Given the description of an element on the screen output the (x, y) to click on. 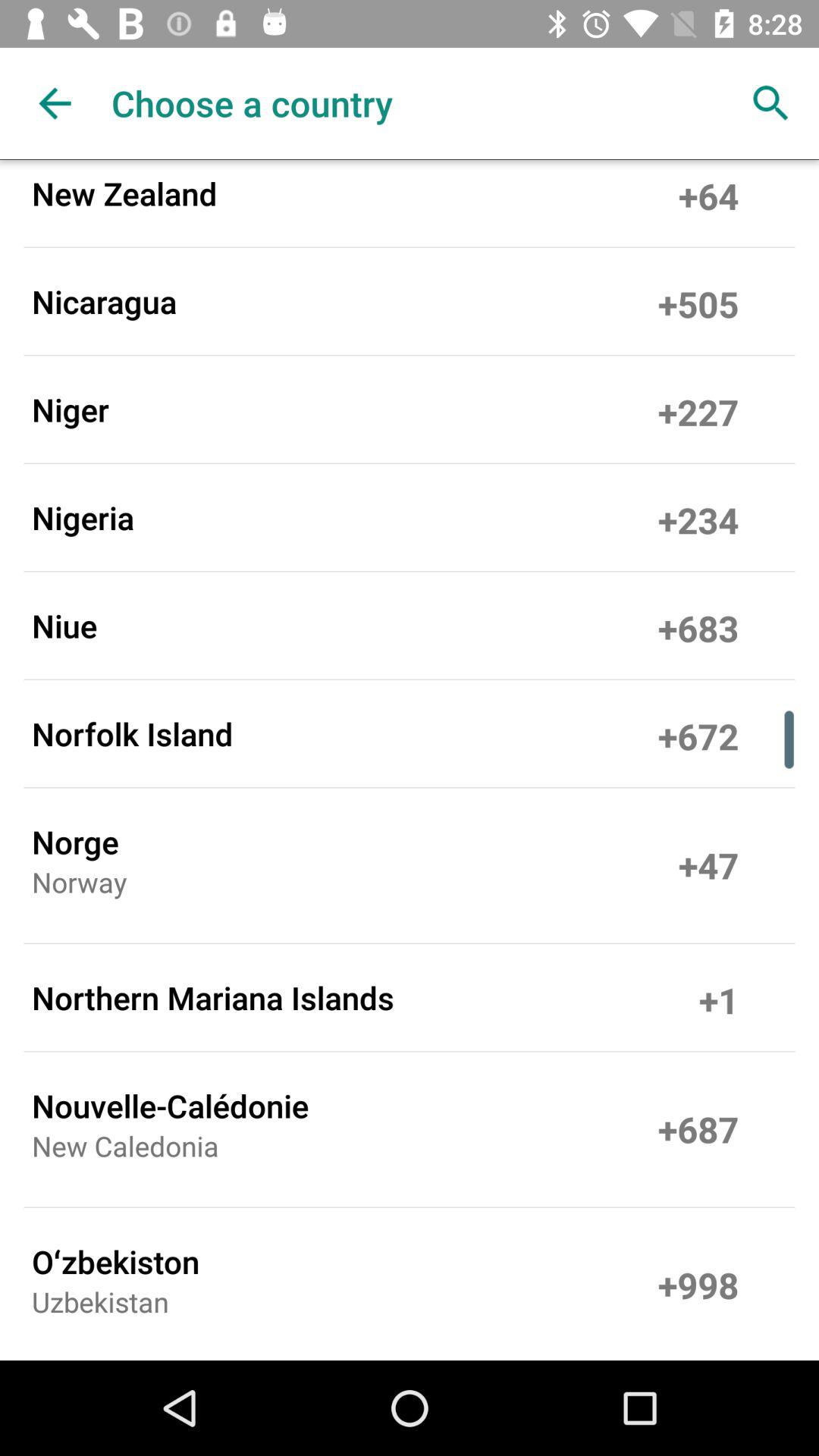
open the norge icon (74, 841)
